Given the description of an element on the screen output the (x, y) to click on. 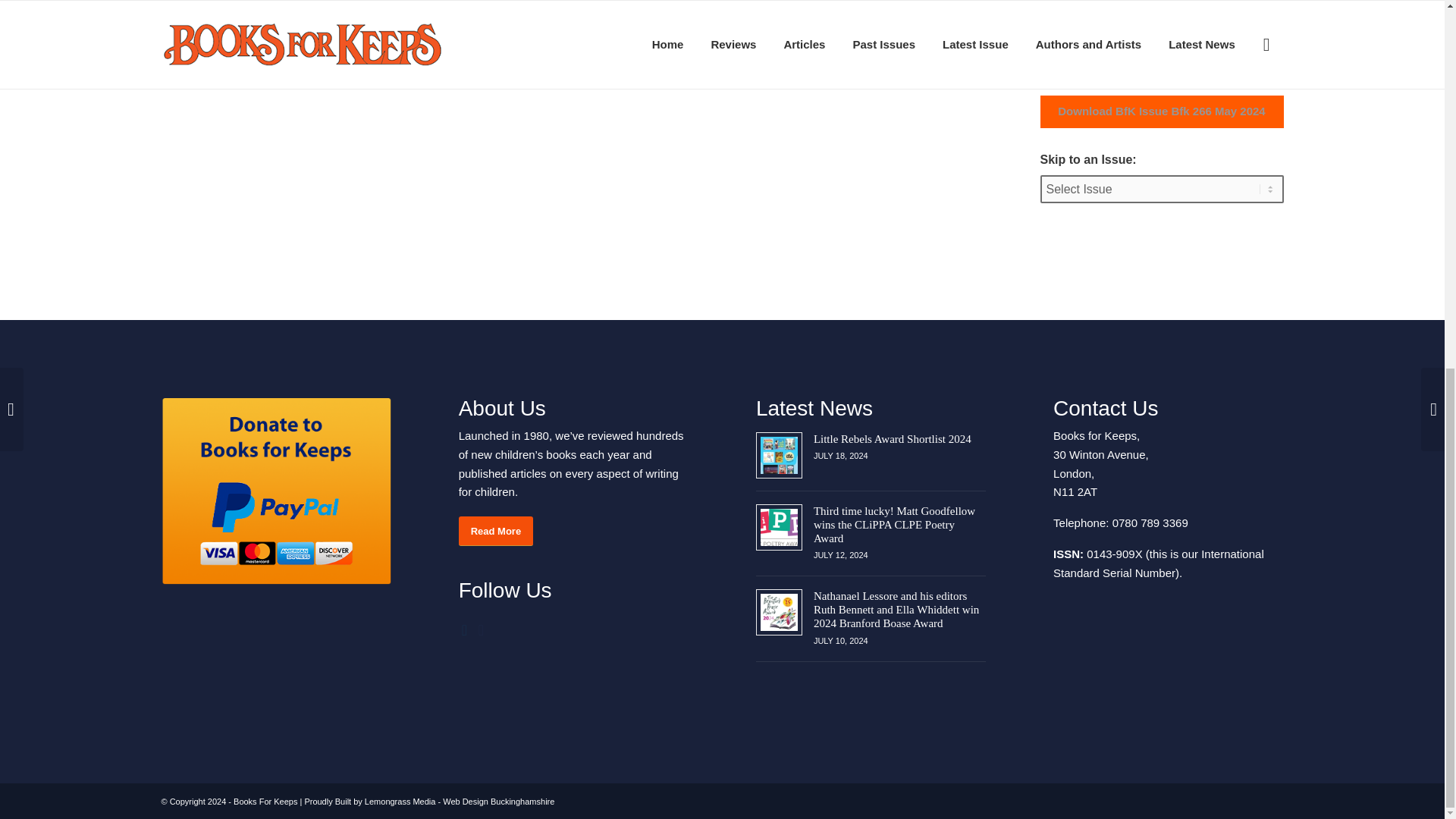
Little Rebels Award Shortlist 2024 (892, 438)
Link to: Little Rebels Award Shortlist 2024 (778, 455)
Link to: Little Rebels Award Shortlist 2024 (892, 438)
PayPal - The safer, easier way to pay online! (275, 491)
Download BfK Issue Bfk 266 May 2024 (1162, 111)
Read More (495, 531)
